Given the description of an element on the screen output the (x, y) to click on. 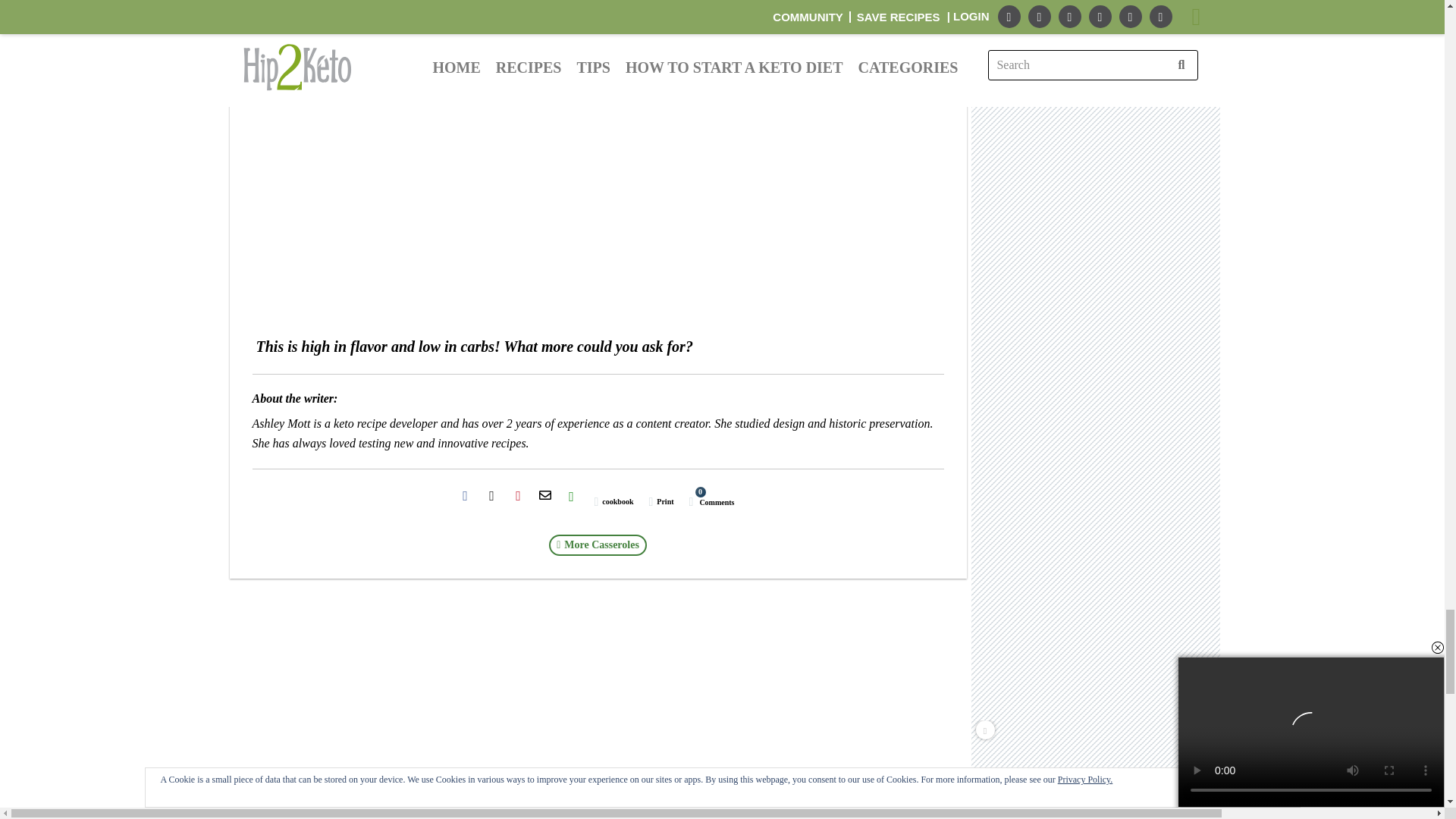
Click to share on Pinterest (518, 495)
Click to share on SMS (572, 495)
Click to share on X (492, 495)
Click to share on Facebook (465, 495)
Click to share on H2S Email (544, 495)
